Given the description of an element on the screen output the (x, y) to click on. 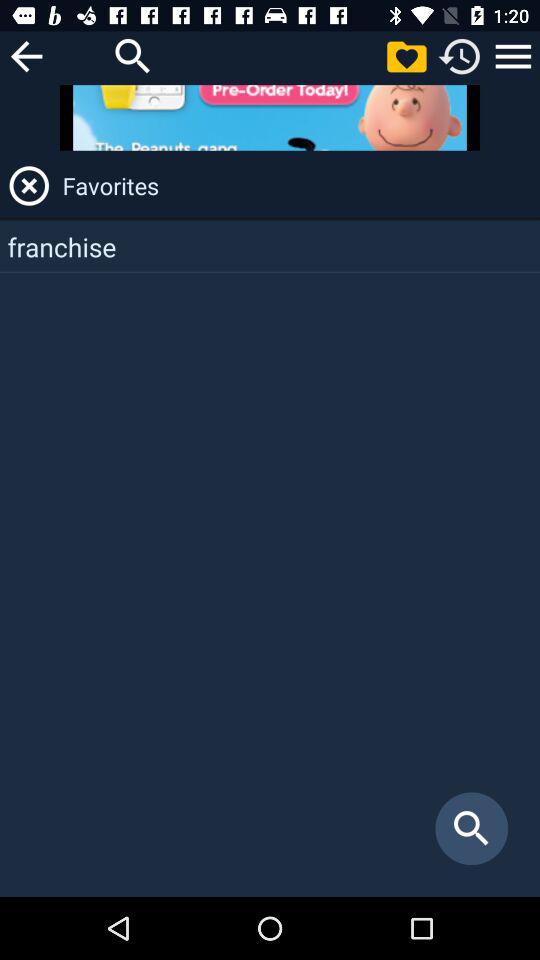
click item above the favorites item (513, 56)
